Given the description of an element on the screen output the (x, y) to click on. 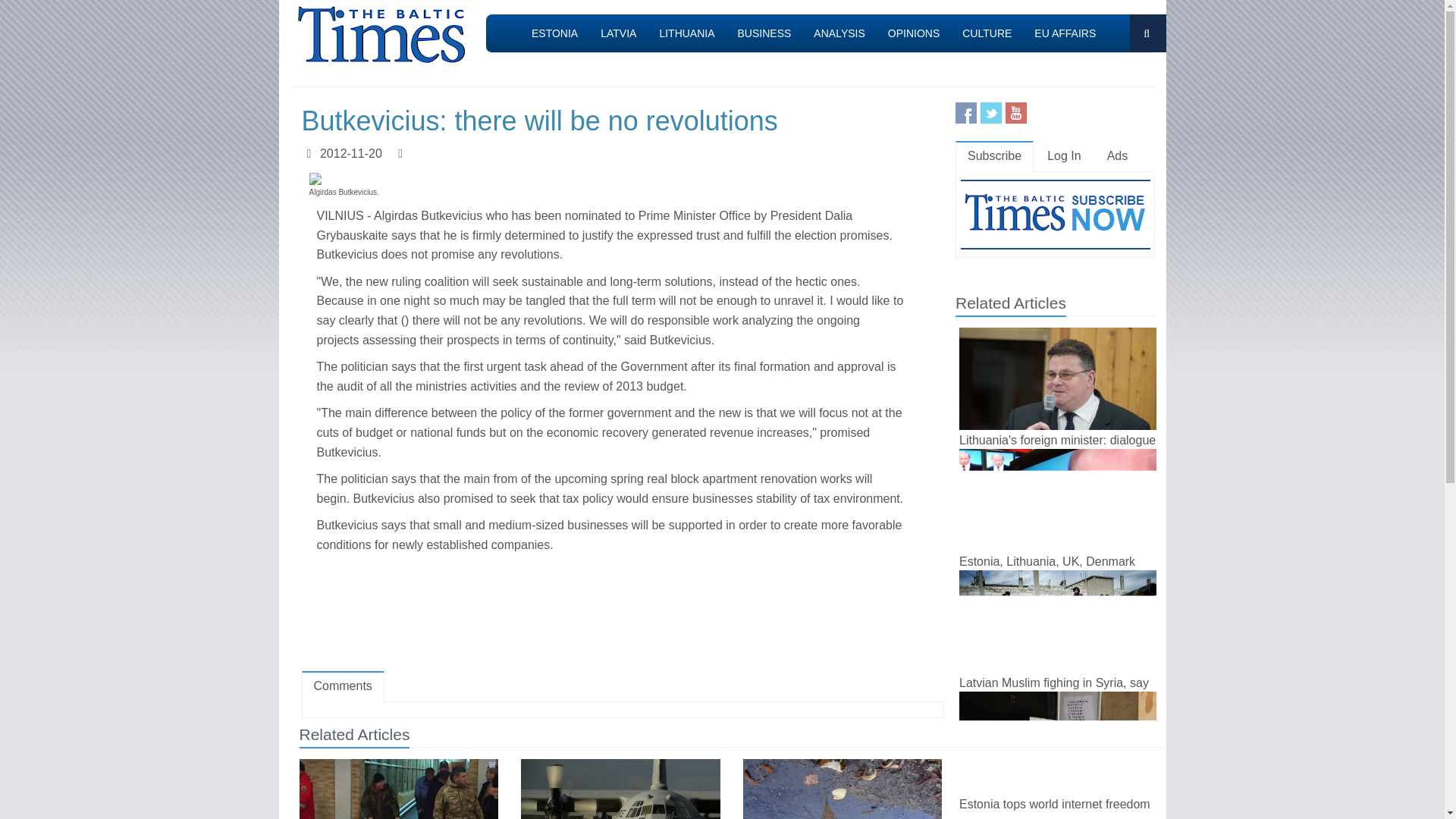
OPINIONS (913, 33)
LATVIA (618, 33)
LITHUANIA (686, 33)
BUSINESS (764, 33)
ESTONIA (554, 33)
Subscribe (994, 155)
Log In (1064, 155)
Comments (342, 685)
CULTURE (986, 33)
ANALYSIS (839, 33)
